Given the description of an element on the screen output the (x, y) to click on. 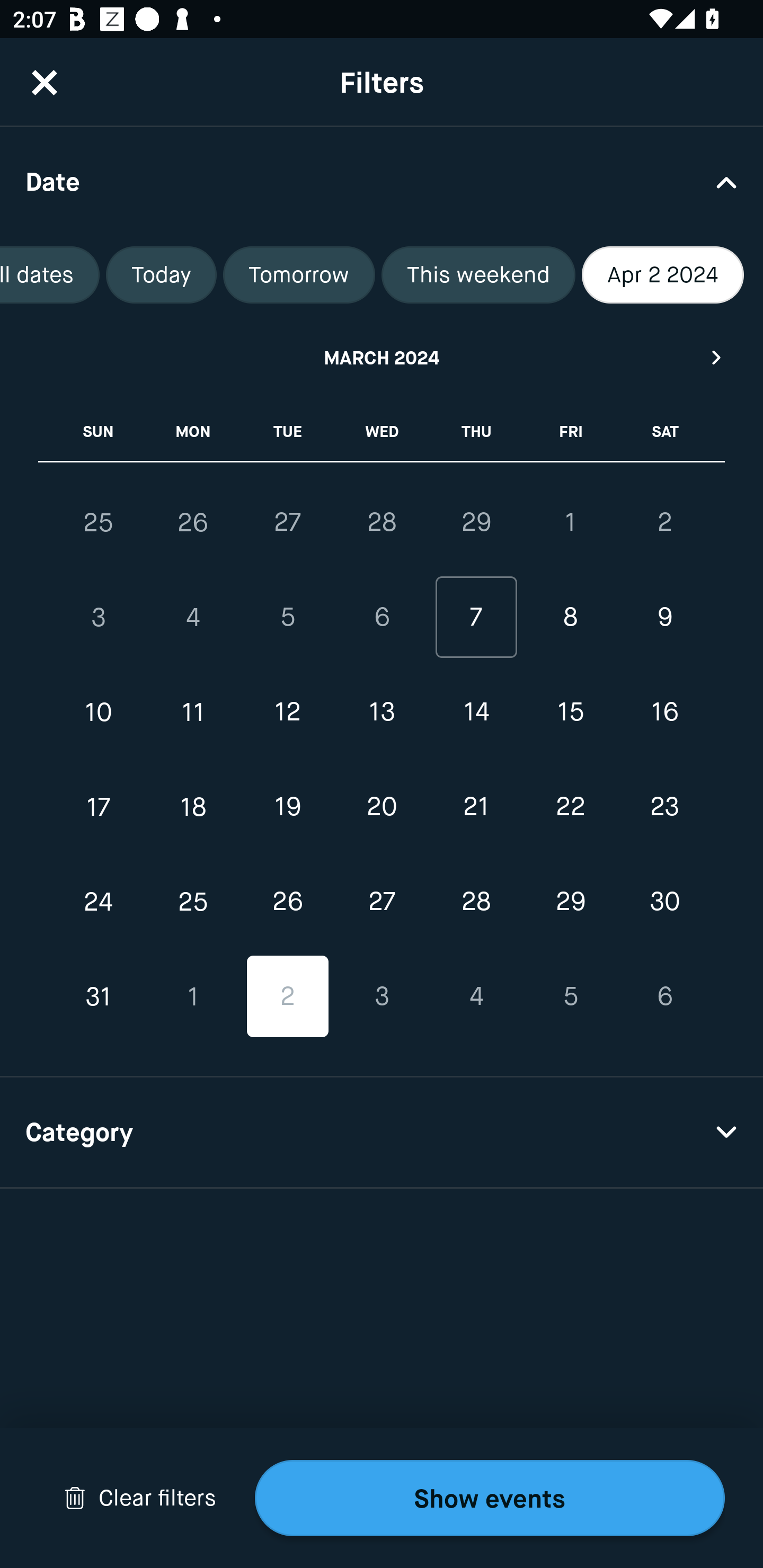
CloseButton (44, 82)
Date Drop Down Arrow (381, 181)
Today (161, 274)
Tomorrow (298, 274)
This weekend (478, 274)
Apr 2 2024 (662, 274)
Next (717, 357)
25 (98, 522)
26 (192, 522)
27 (287, 522)
28 (381, 522)
29 (475, 522)
1 (570, 522)
2 (664, 522)
3 (98, 617)
4 (192, 617)
5 (287, 617)
6 (381, 617)
7 (475, 617)
8 (570, 617)
9 (664, 617)
10 (98, 711)
11 (192, 711)
12 (287, 711)
13 (381, 711)
14 (475, 711)
15 (570, 711)
16 (664, 711)
17 (98, 806)
18 (192, 806)
19 (287, 806)
20 (381, 806)
21 (475, 806)
22 (570, 806)
23 (664, 806)
24 (98, 901)
25 (192, 901)
26 (287, 901)
27 (381, 901)
28 (475, 901)
29 (570, 901)
30 (664, 901)
31 (98, 996)
1 (192, 996)
2 (287, 996)
3 (381, 996)
4 (475, 996)
5 (570, 996)
6 (664, 996)
Category Drop Down Arrow (381, 1132)
Drop Down Arrow Clear filters (139, 1497)
Show events (489, 1497)
